Given the description of an element on the screen output the (x, y) to click on. 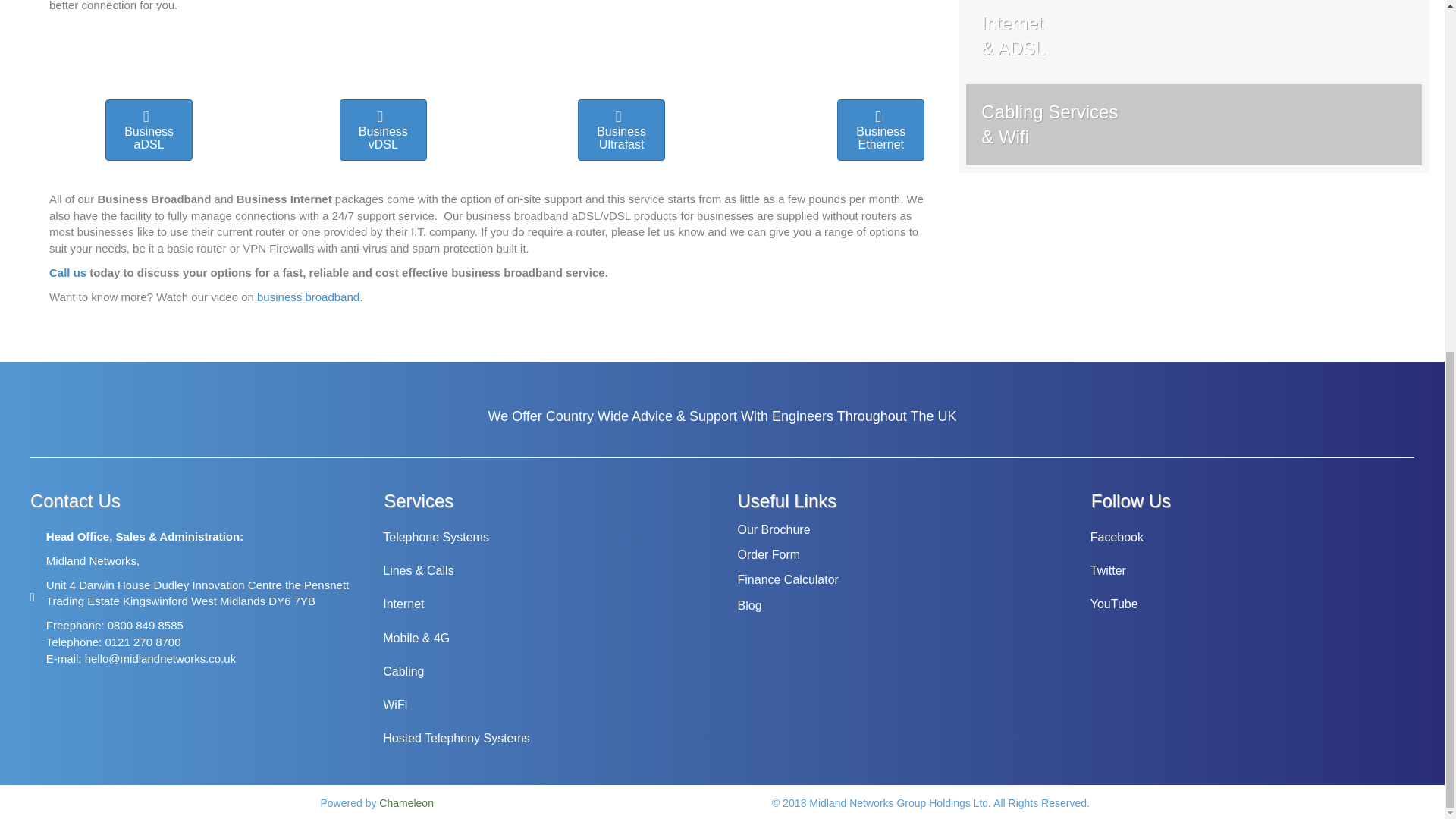
business broadband (308, 296)
Web Design Company (408, 802)
